Given the description of an element on the screen output the (x, y) to click on. 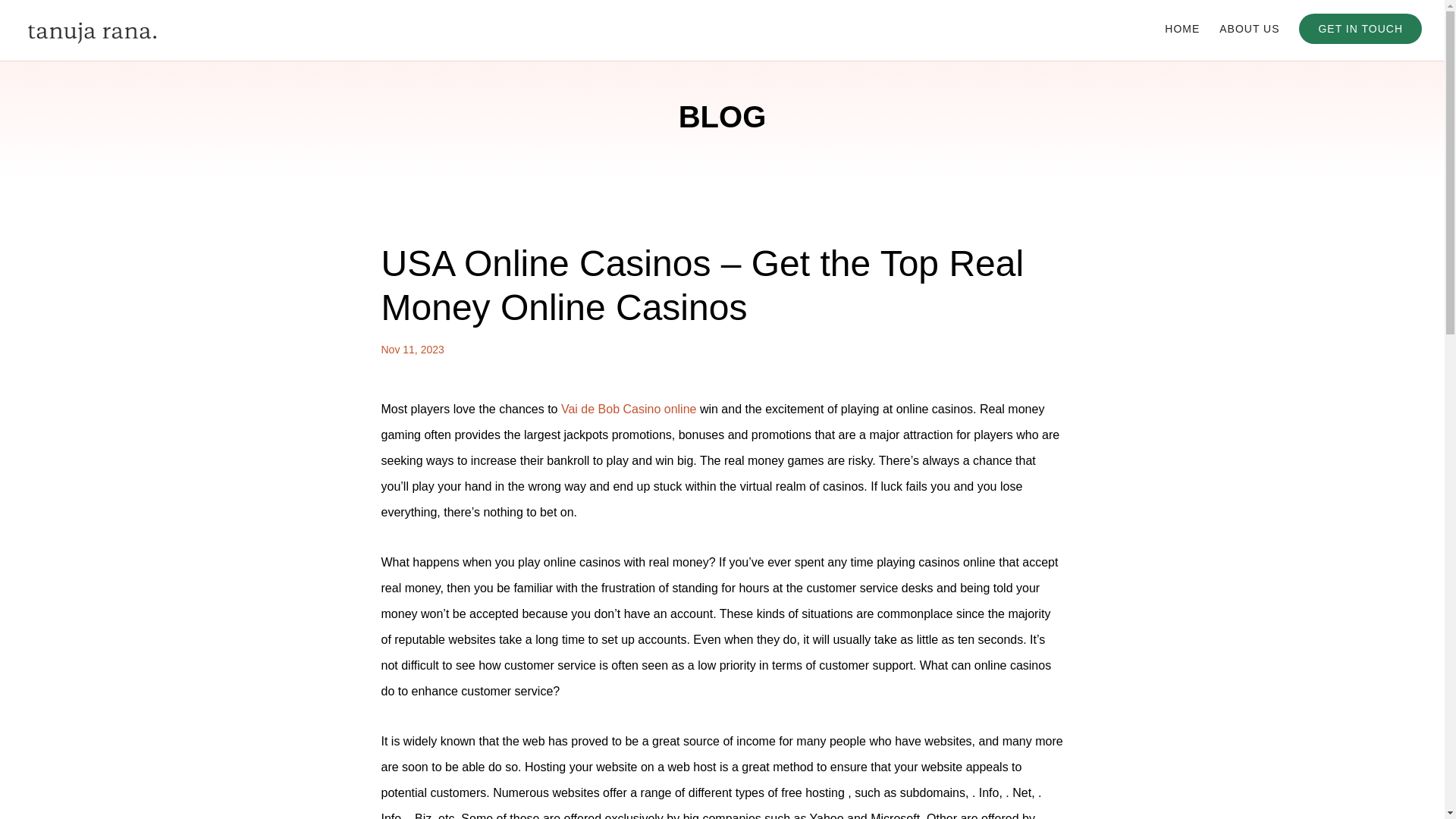
HOME (1181, 40)
GET IN TOUCH (1360, 28)
ABOUT US (1249, 40)
Vai de Bob Casino online (628, 408)
